Given the description of an element on the screen output the (x, y) to click on. 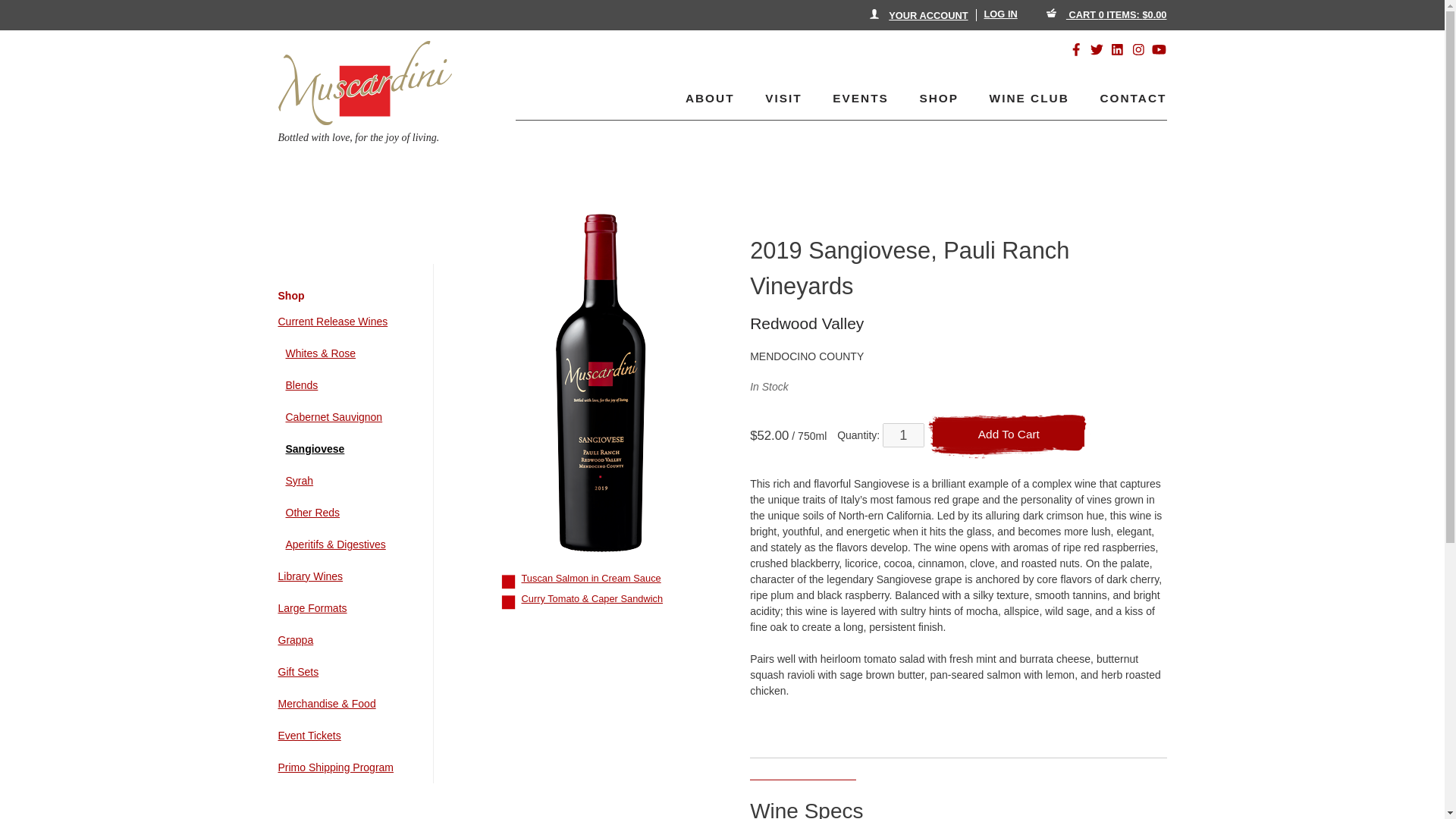
Follow us on YouTube (1158, 48)
Gift Sets (346, 672)
Tuscan Salmon in Cream Sauce (591, 577)
ABOUT (708, 98)
Sangiovese (349, 449)
Grappa (346, 640)
Library Wines (346, 576)
1 (903, 435)
CONTACT (1126, 97)
EVENTS (860, 98)
SHOP (938, 98)
Bottled with love, for the joy of living. (364, 99)
YOUR ACCOUNT (918, 15)
LOG IN (1000, 13)
Other Reds (349, 512)
